Given the description of an element on the screen output the (x, y) to click on. 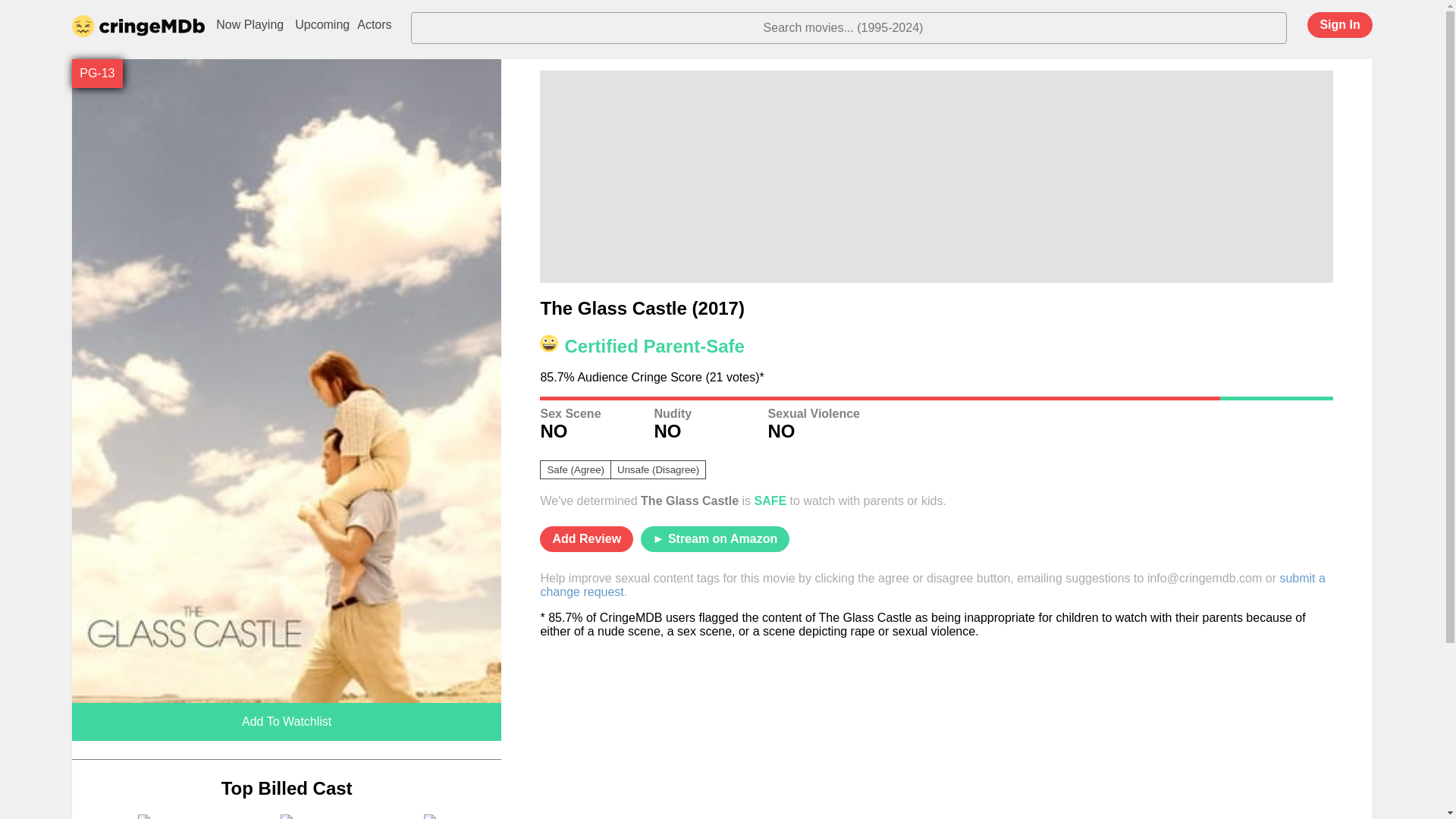
Now Playing (249, 25)
Upcoming (322, 25)
submit a change request (932, 584)
Sign In (1339, 24)
Actors (373, 25)
Add Review (586, 539)
Add To Watchlist (285, 721)
Sign In (1324, 29)
